Given the description of an element on the screen output the (x, y) to click on. 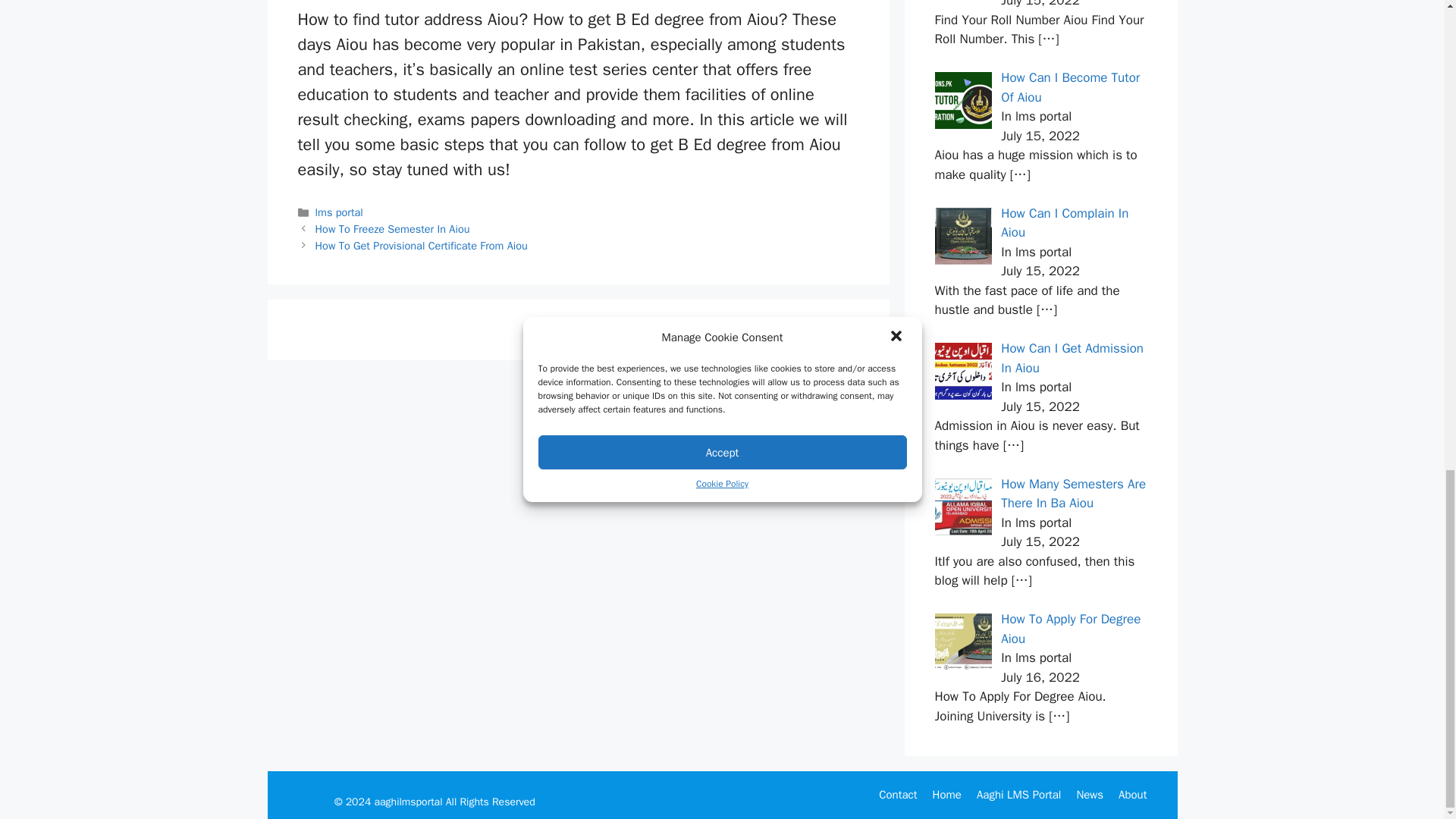
How Can I Become Tutor Of Aiou (1070, 87)
lms portal (338, 212)
How To Freeze Semester In Aiou (392, 228)
How To Get Provisional Certificate From Aiou (421, 245)
Scroll back to top (1406, 426)
